Given the description of an element on the screen output the (x, y) to click on. 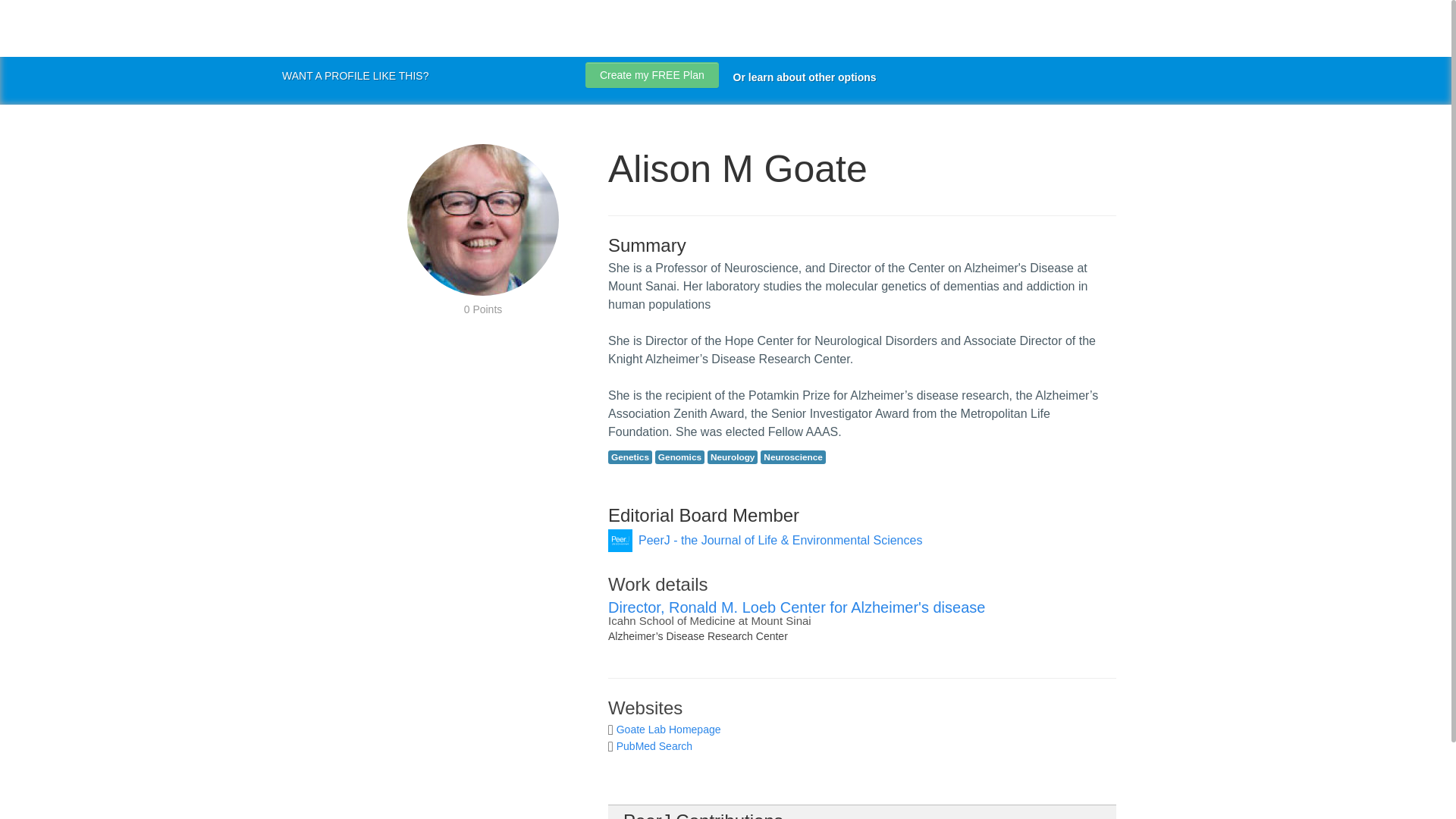
Or learn about other options (804, 77)
Genomics (679, 457)
Genetics (630, 457)
Neurology (732, 457)
Goate Lab Homepage (667, 729)
Create my FREE Plan (652, 74)
PubMed Search (654, 746)
Director, Ronald M. Loeb Center for Alzheimer's disease (796, 606)
Neuroscience (792, 457)
PubMed Search (654, 746)
Goate Lab Homepage (667, 729)
